Given the description of an element on the screen output the (x, y) to click on. 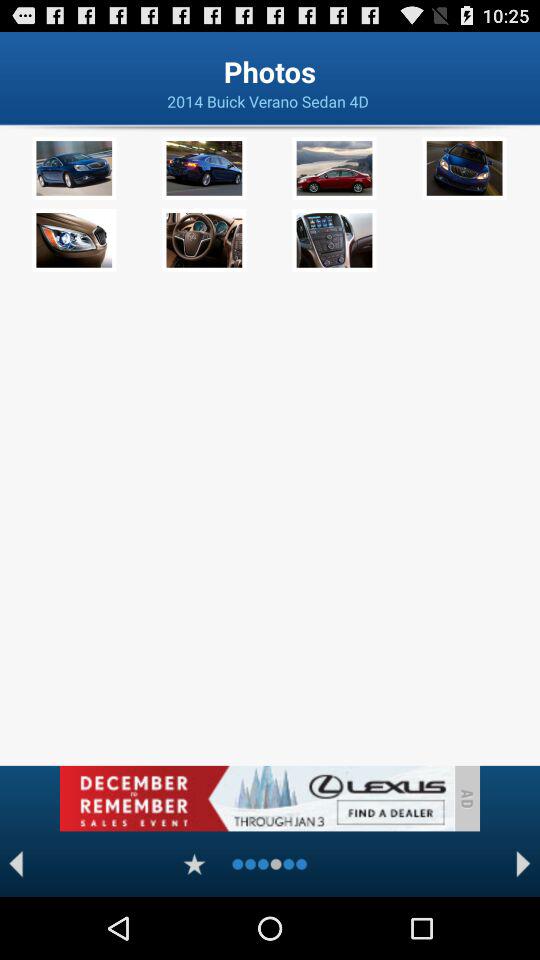
advertising (256, 798)
